Given the description of an element on the screen output the (x, y) to click on. 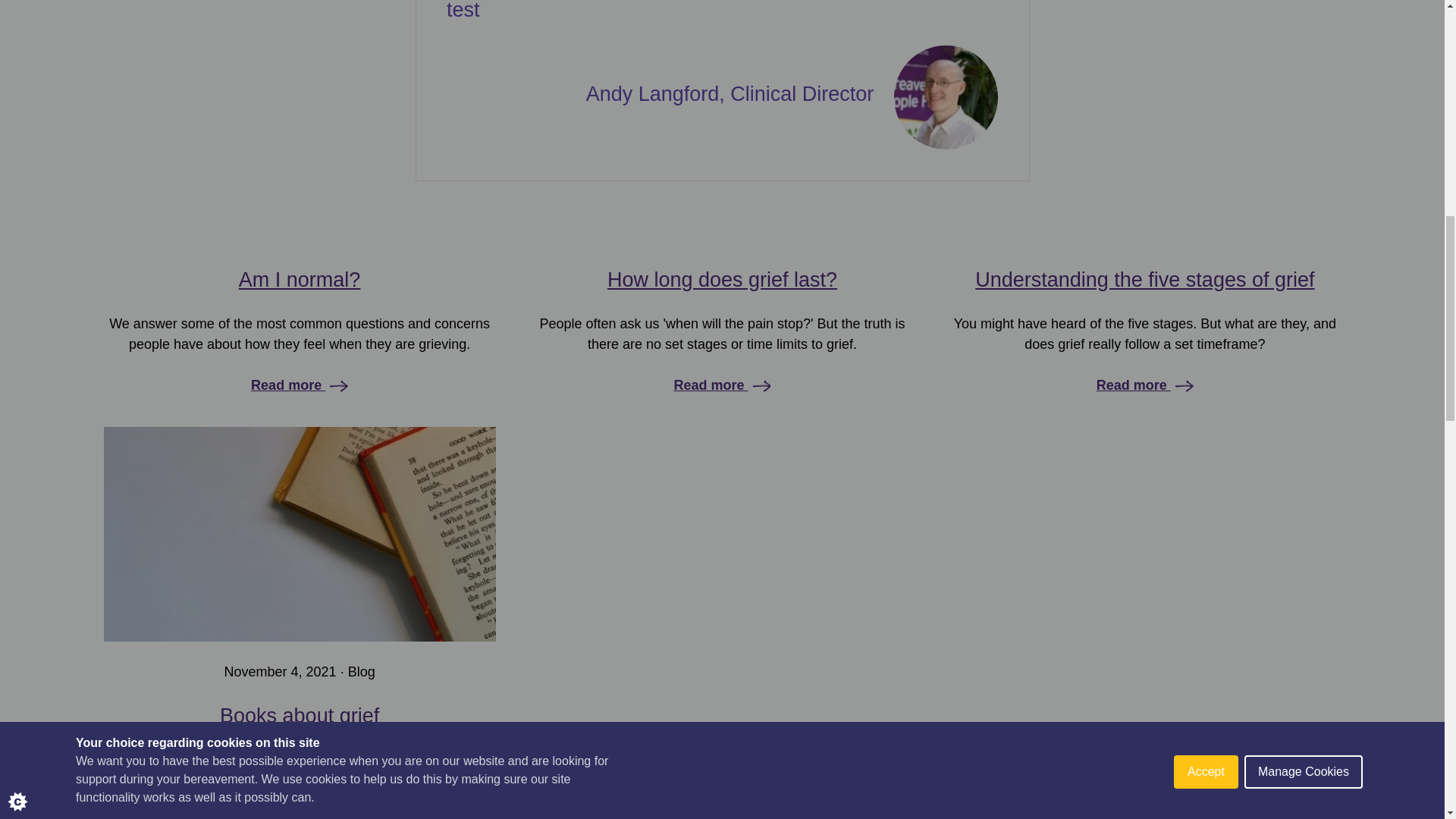
Read more (287, 385)
Accept (1206, 13)
How long does grief last? (722, 279)
Am I normal? (299, 279)
Manage Cookies (1303, 5)
